Given the description of an element on the screen output the (x, y) to click on. 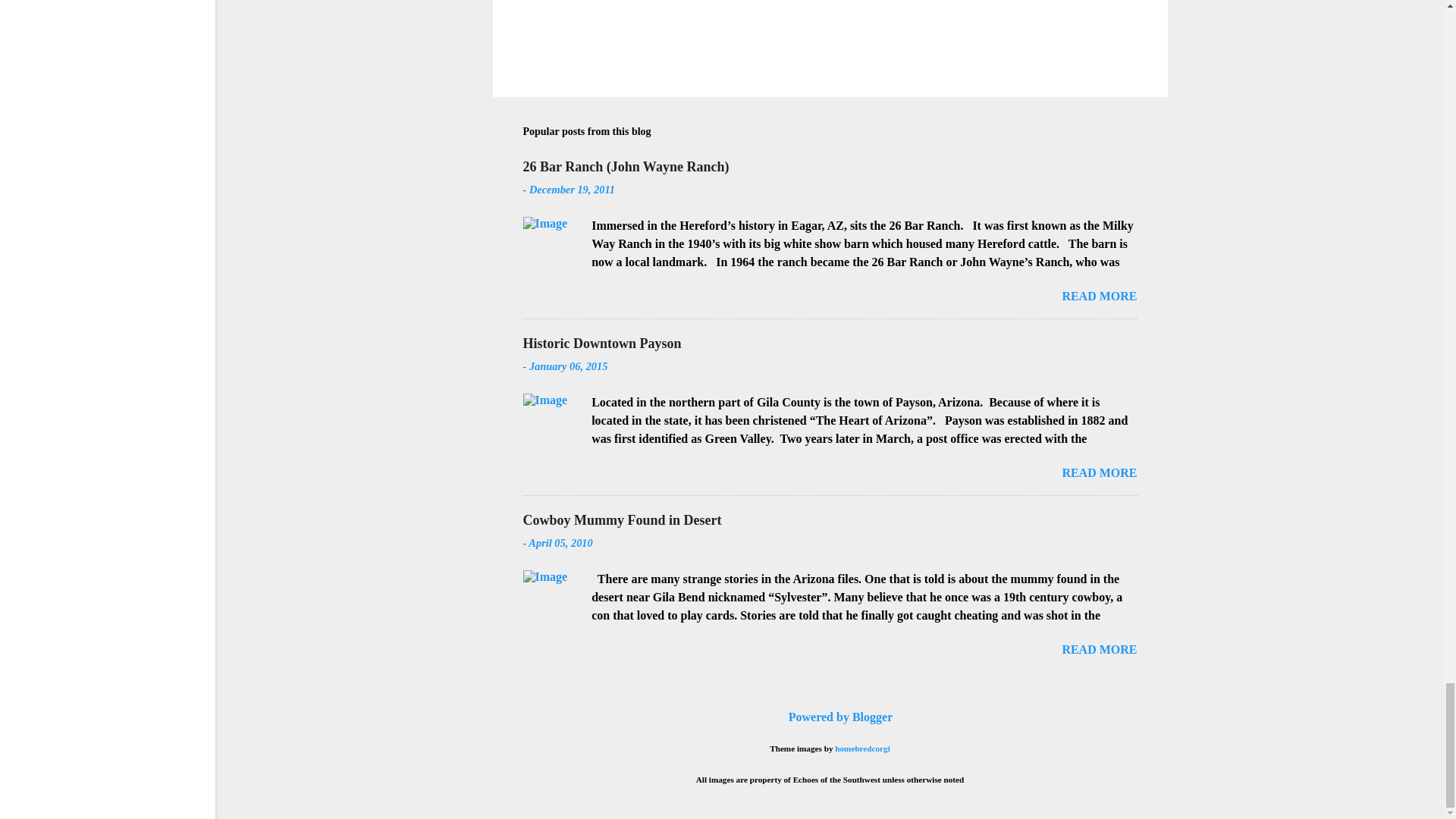
December 19, 2011 (571, 189)
January 06, 2015 (568, 366)
April 05, 2010 (560, 542)
Historic Downtown Payson (601, 343)
READ MORE (1099, 472)
Cowboy Mummy Found in Desert (622, 519)
READ MORE (1099, 295)
permanent link (571, 189)
